Given the description of an element on the screen output the (x, y) to click on. 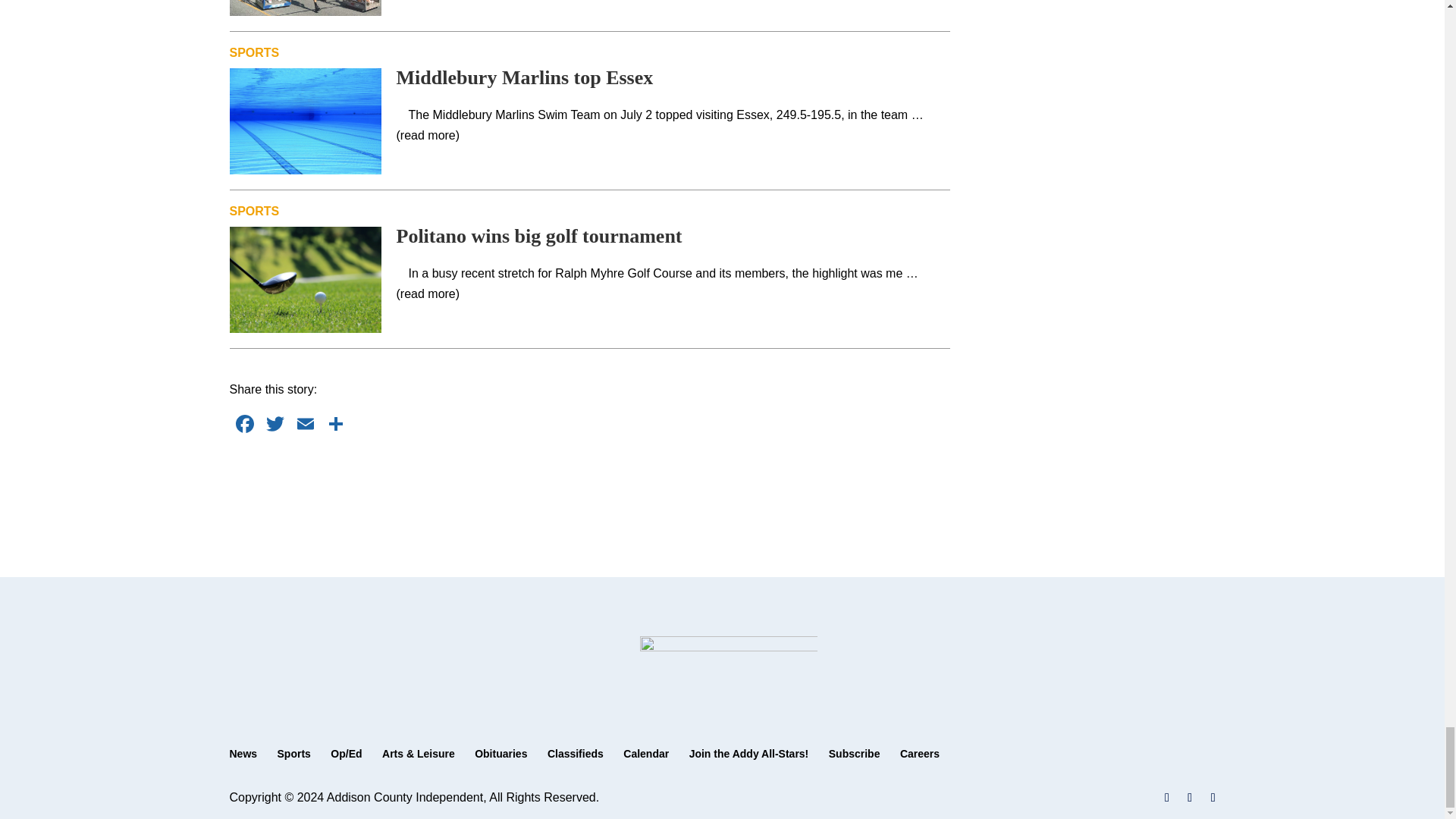
Facebook (243, 425)
Twitter (274, 425)
3rd party ad content (590, 486)
Email (304, 425)
